Given the description of an element on the screen output the (x, y) to click on. 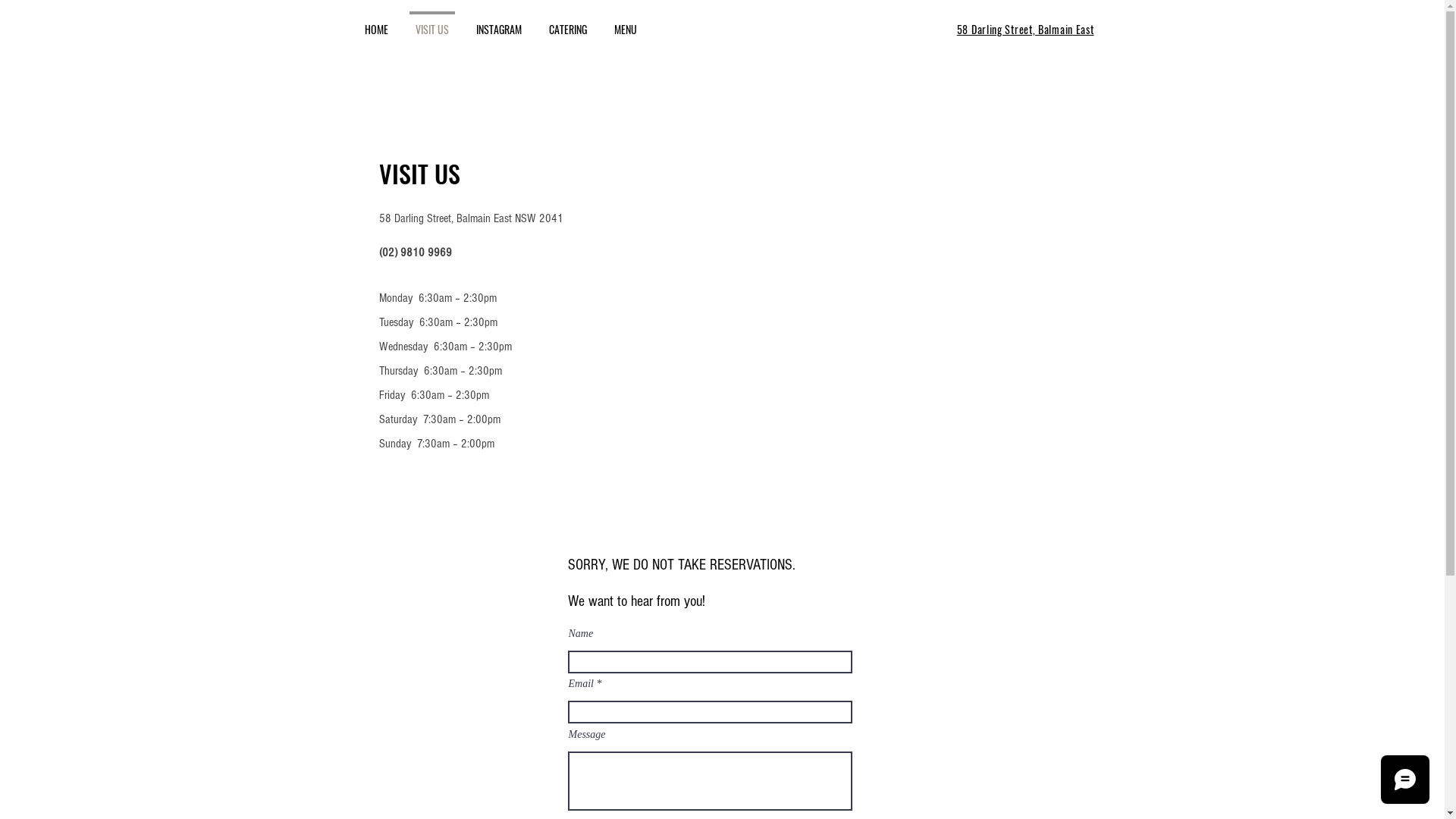
Google Maps Element type: hover (862, 322)
HOME Element type: text (375, 22)
VISIT US Element type: text (431, 22)
CATERING Element type: text (567, 22)
MENU Element type: text (625, 22)
58 Darling Street, Balmain East Element type: text (1025, 30)
INSTAGRAM Element type: text (498, 22)
